Given the description of an element on the screen output the (x, y) to click on. 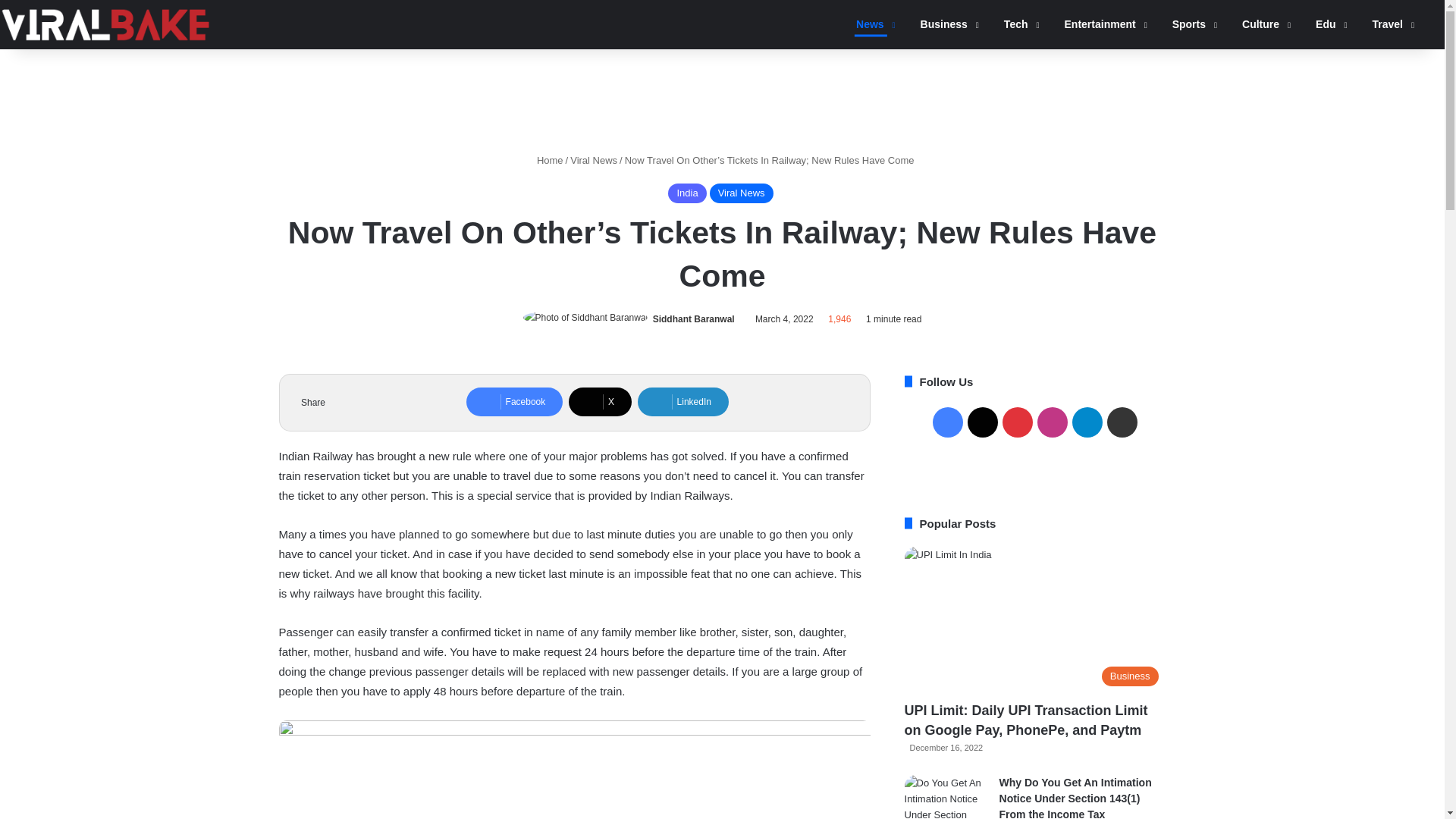
Business (944, 24)
Travel (1388, 24)
News (870, 24)
X (600, 401)
Viral Bake (104, 24)
Siddhant Baranwal (693, 318)
Sports (1189, 24)
LinkedIn (683, 401)
Culture (1261, 24)
Entertainment (1100, 24)
Edu (1326, 24)
Tech (1016, 24)
Facebook (514, 401)
